Given the description of an element on the screen output the (x, y) to click on. 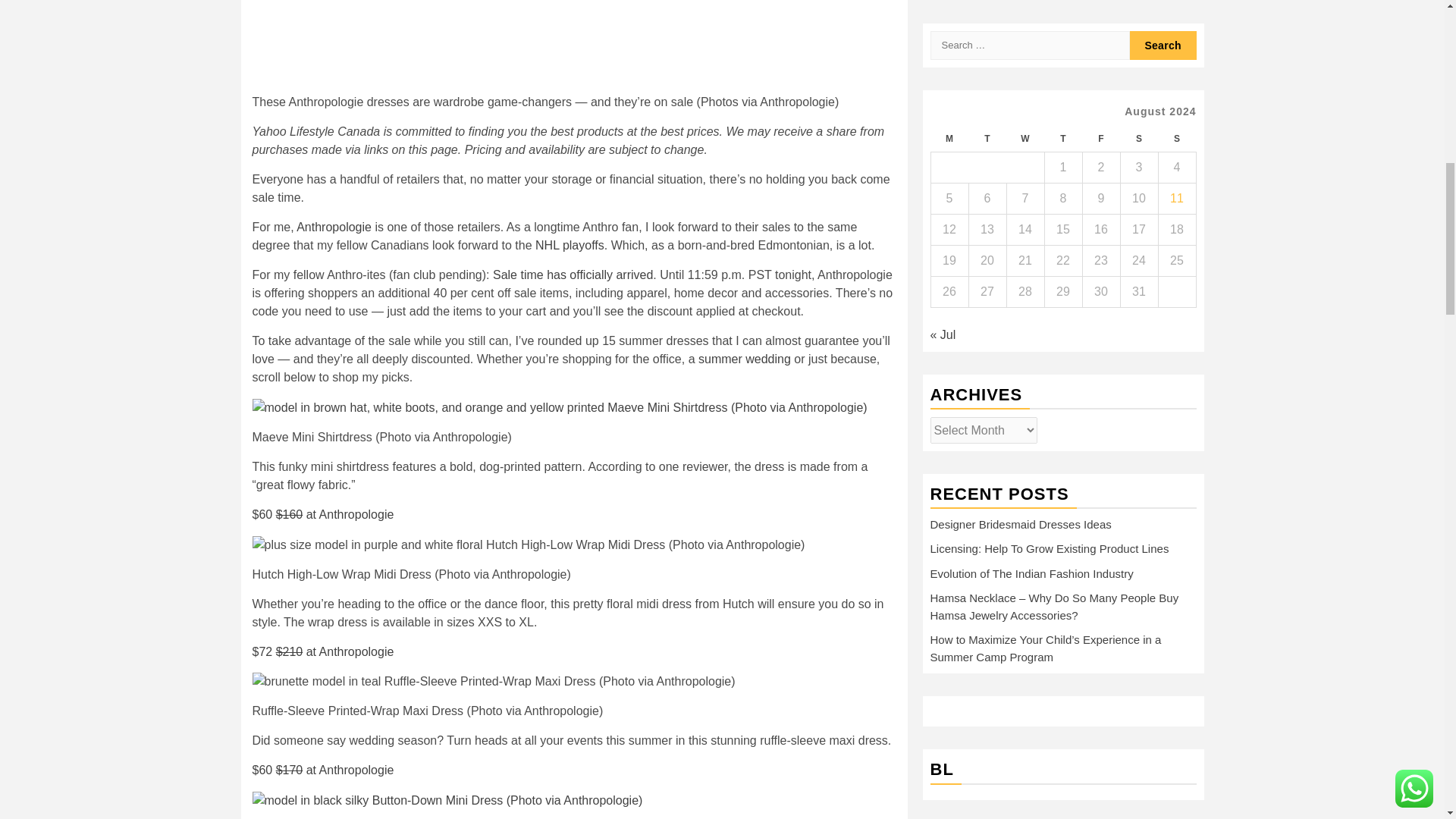
Sale time has officially arrived (572, 274)
NHL playoffs (569, 245)
Anthropologie (334, 226)
summer wedding (744, 358)
